Given the description of an element on the screen output the (x, y) to click on. 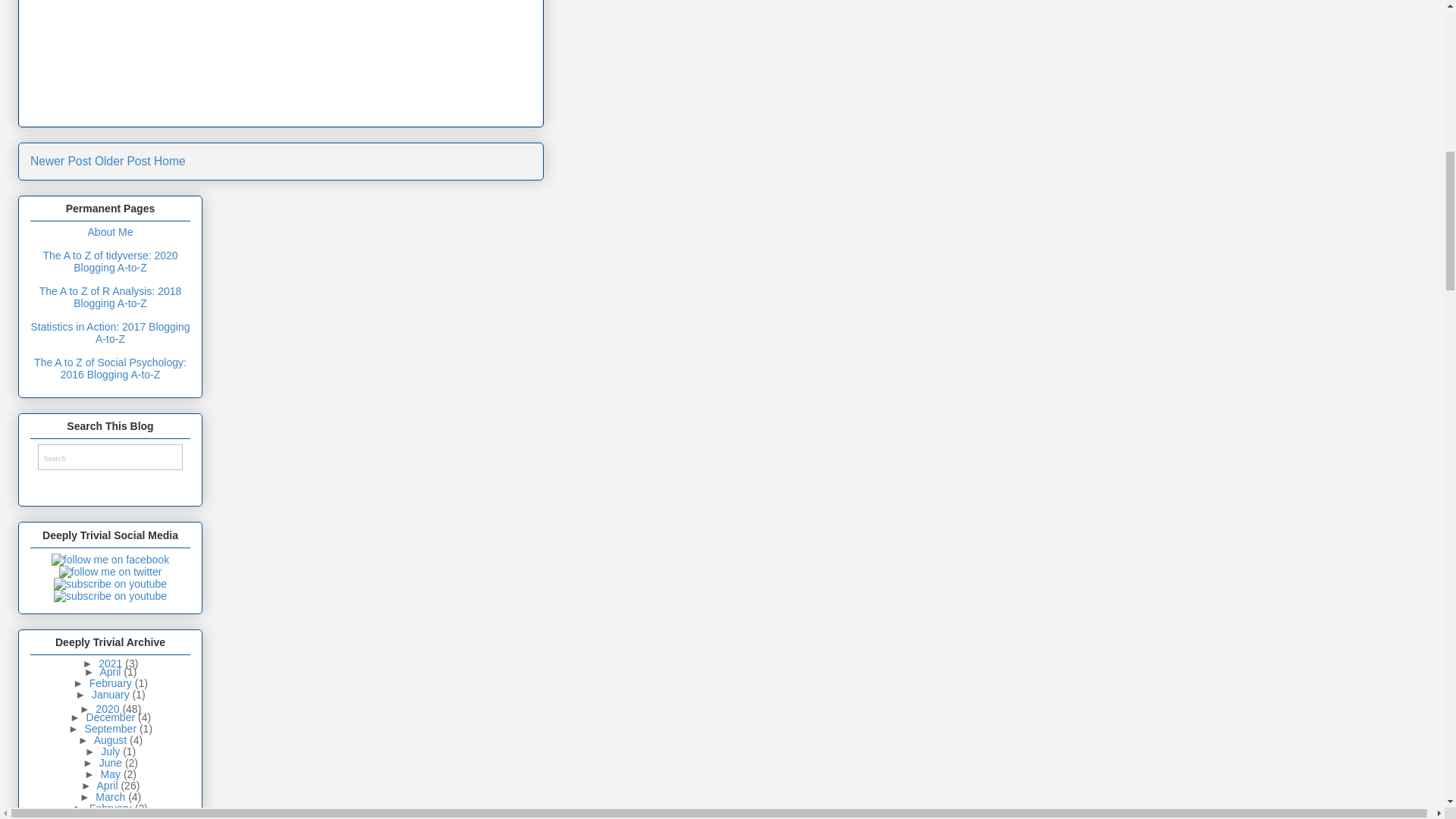
2021 (112, 663)
Subscribe to My Music Channel on YouTube (110, 595)
The A to Z of tidyverse: 2020 Blogging A-to-Z (109, 261)
Newer Post (60, 160)
find us on Facebook (109, 559)
April (111, 671)
Statistics in Action: 2017 Blogging A-to-Z (109, 332)
The A to Z of Social Psychology: 2016 Blogging A-to-Z (109, 368)
Type and hit enter (109, 457)
Older Post (122, 160)
January (111, 694)
About Me (110, 232)
Newer Post (60, 160)
Search (103, 457)
The A to Z of R Analysis: 2018 Blogging A-to-Z (110, 297)
